Given the description of an element on the screen output the (x, y) to click on. 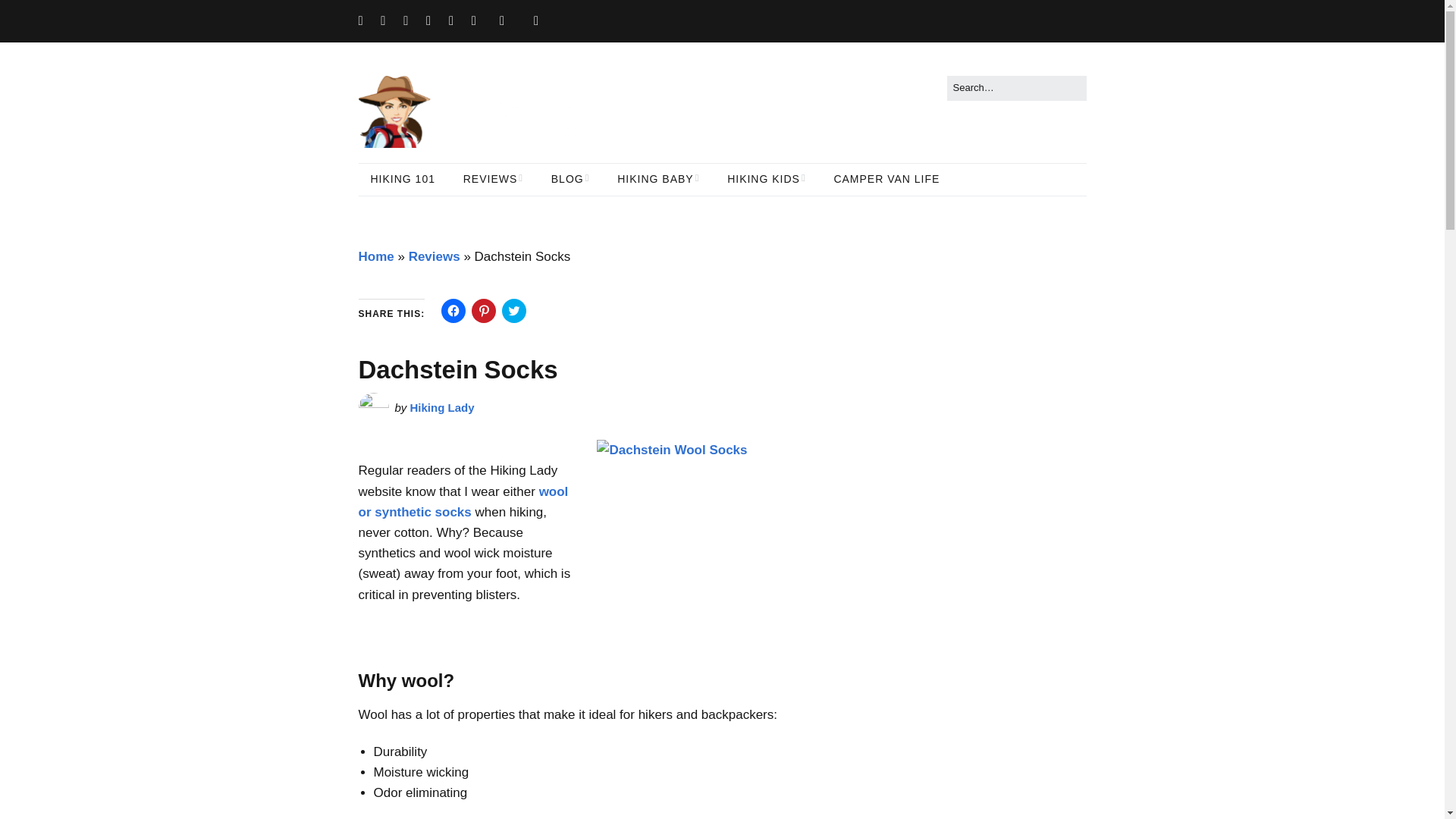
Click to share on Facebook (453, 310)
Reviews (434, 256)
Home (375, 256)
Search (29, 15)
wool or synthetic socks (462, 501)
Press Enter to submit your search (1016, 88)
HIKING KIDS (766, 179)
Click to share on Twitter (513, 310)
HIKING BABY (658, 179)
Click to share on Pinterest (483, 310)
